Given the description of an element on the screen output the (x, y) to click on. 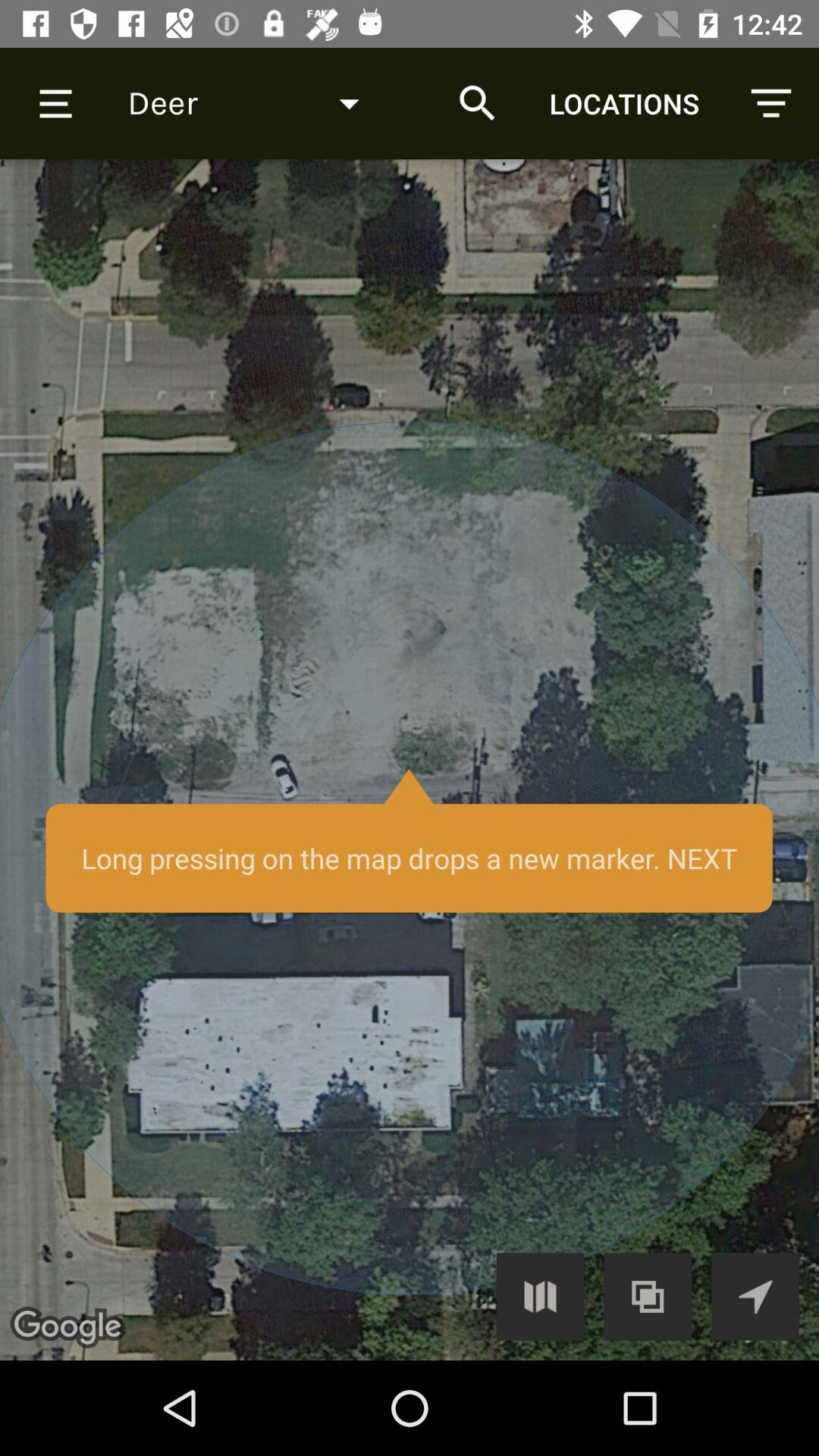
location mapping on location toggle to location (755, 1296)
